Given the description of an element on the screen output the (x, y) to click on. 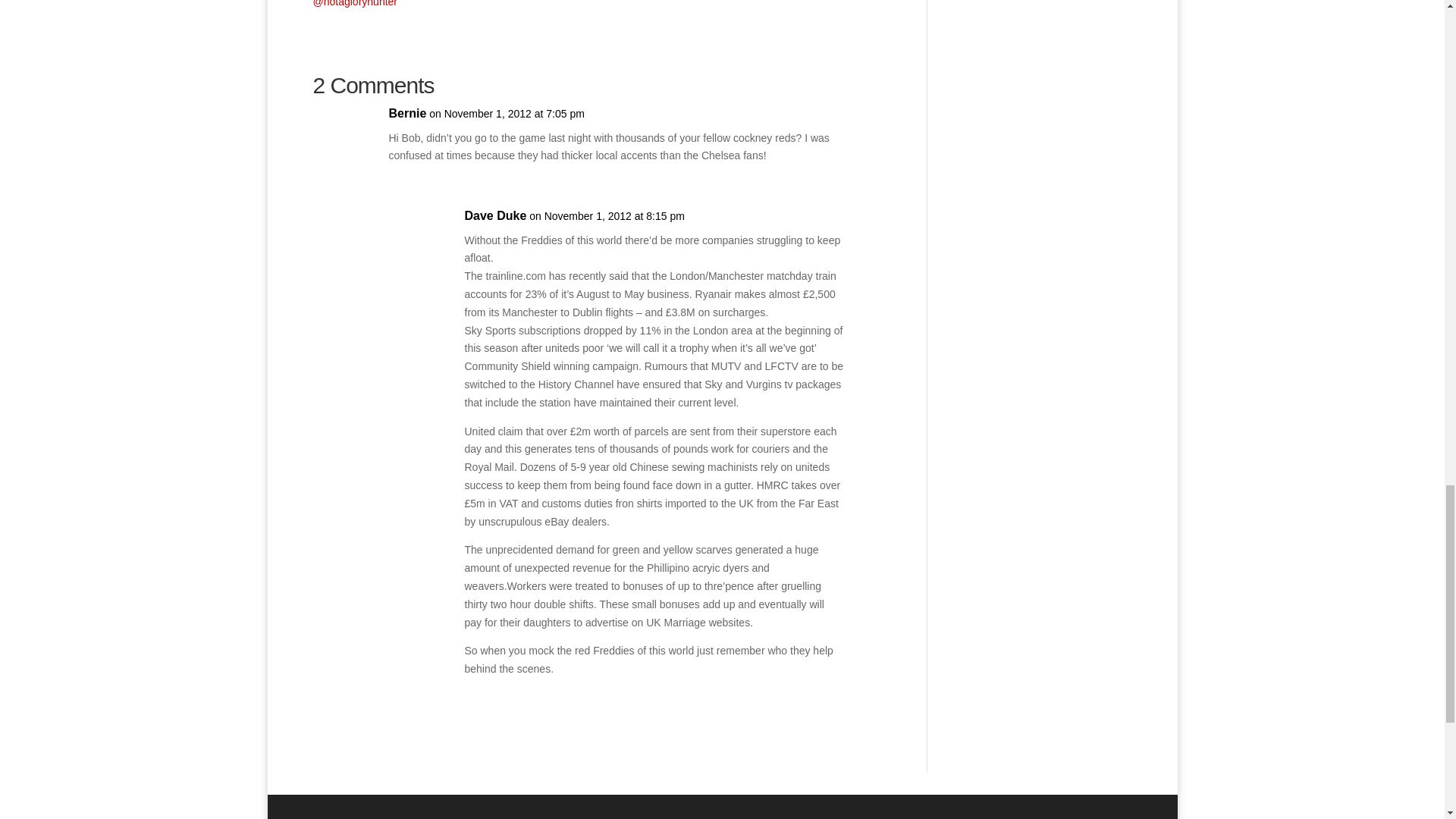
cockneyfredthered (355, 3)
